Given the description of an element on the screen output the (x, y) to click on. 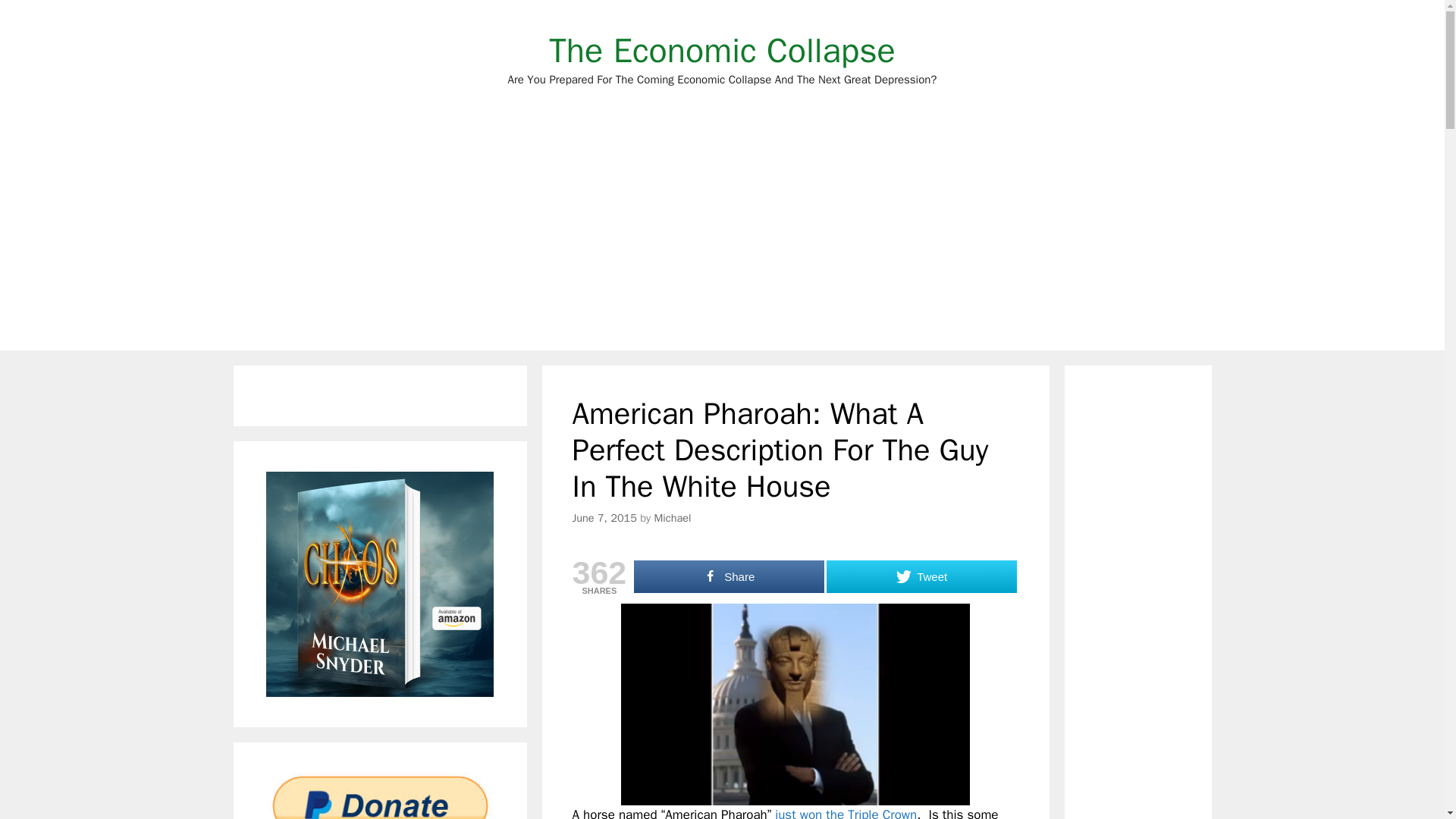
6:28 pm (604, 517)
The Economic Collapse (721, 50)
Share (728, 576)
View all posts by Michael (671, 517)
June 7, 2015 (604, 517)
just won the Triple Crown (845, 812)
just won the Triple Crown (845, 812)
Michael (671, 517)
Tweet (921, 576)
Share (728, 576)
Tweet (921, 576)
